Given the description of an element on the screen output the (x, y) to click on. 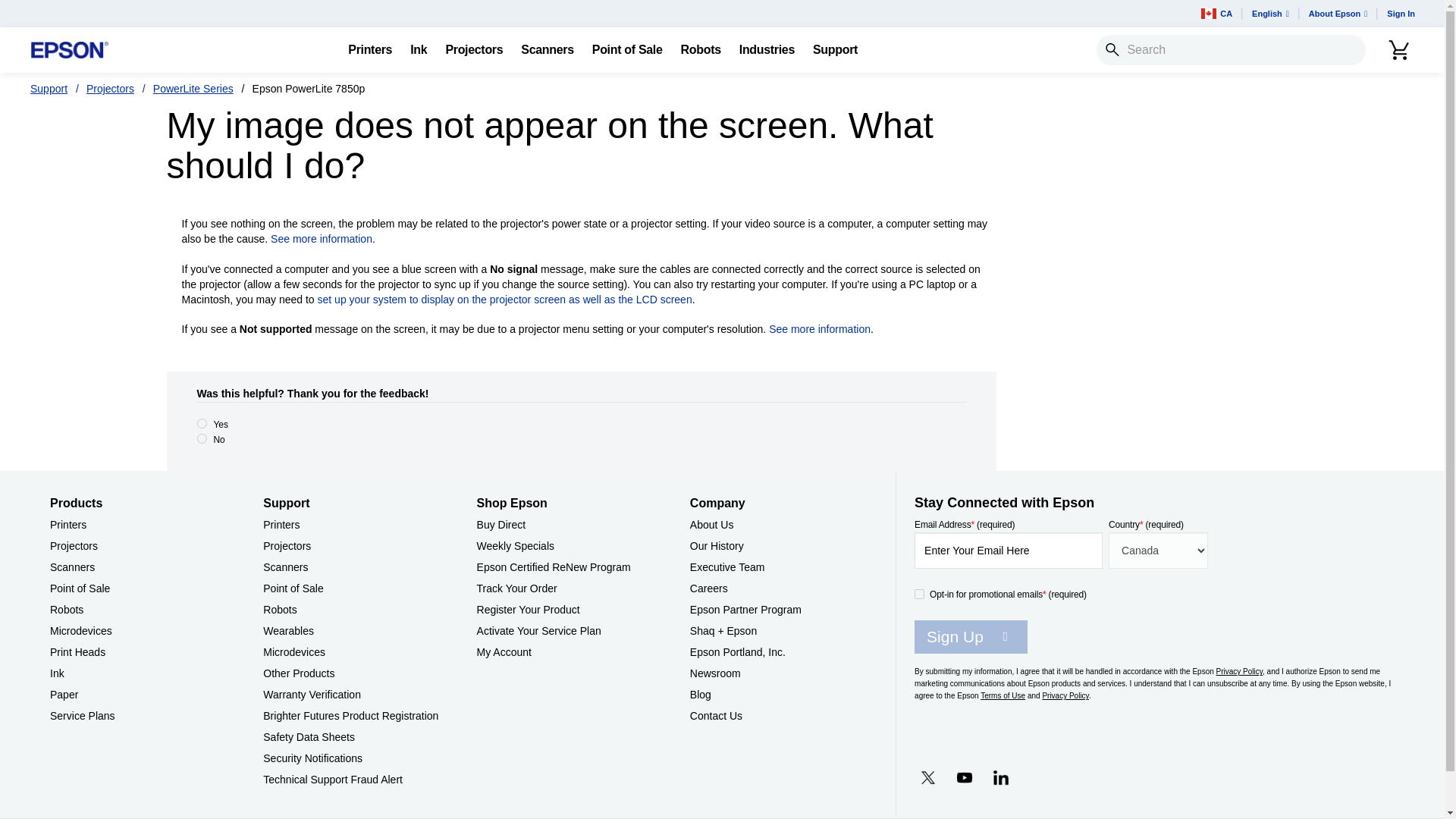
English (1270, 13)
Sign In (1400, 13)
Epson Logo (69, 49)
Sign In (1400, 13)
CA (1216, 13)
on (919, 593)
yes (201, 423)
About Epson (1337, 13)
English (1270, 13)
no (201, 438)
CA (1216, 13)
